Given the description of an element on the screen output the (x, y) to click on. 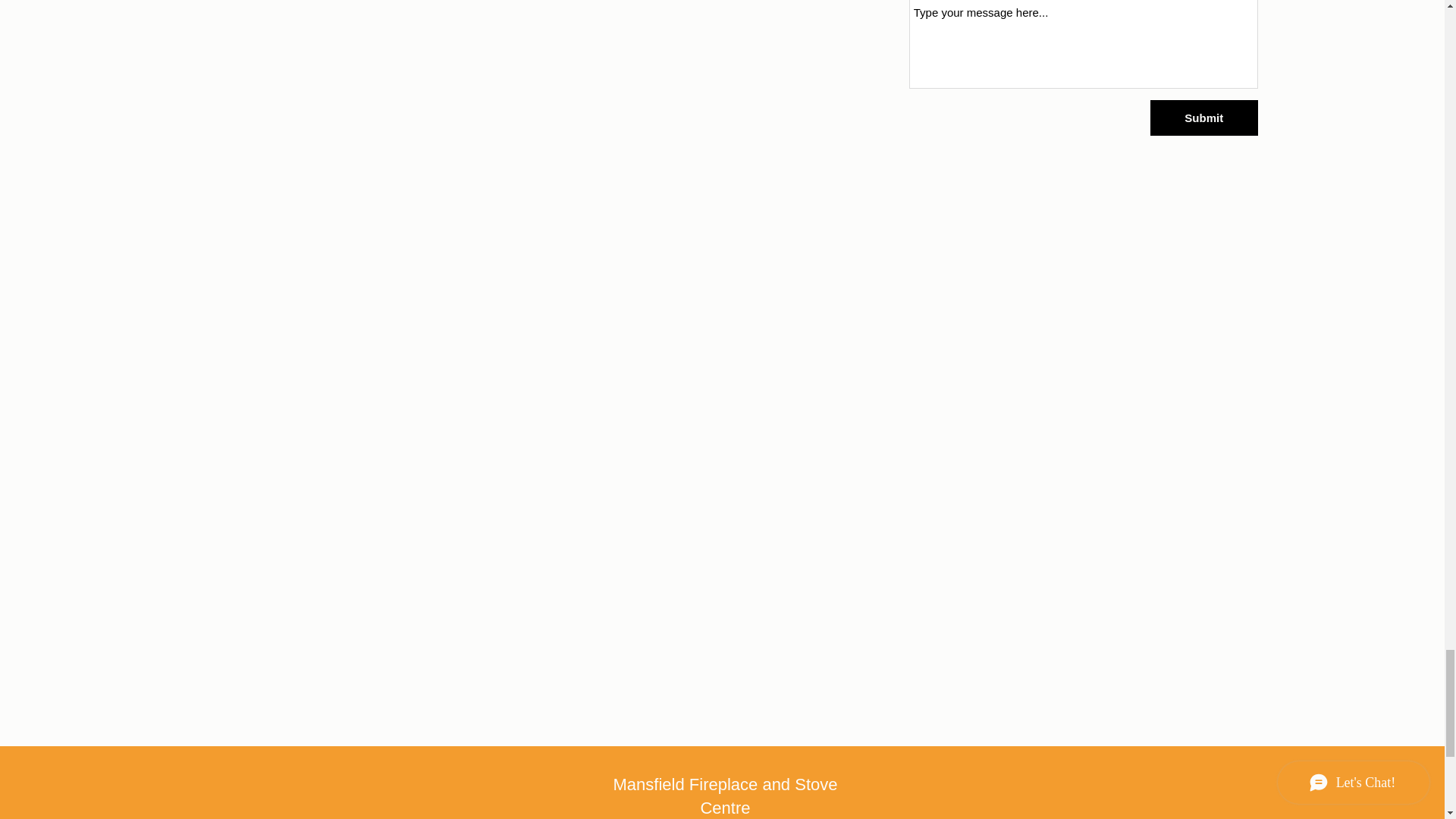
Mansfield Fireplace and Stove Centre (725, 795)
Submit (1203, 117)
